Given the description of an element on the screen output the (x, y) to click on. 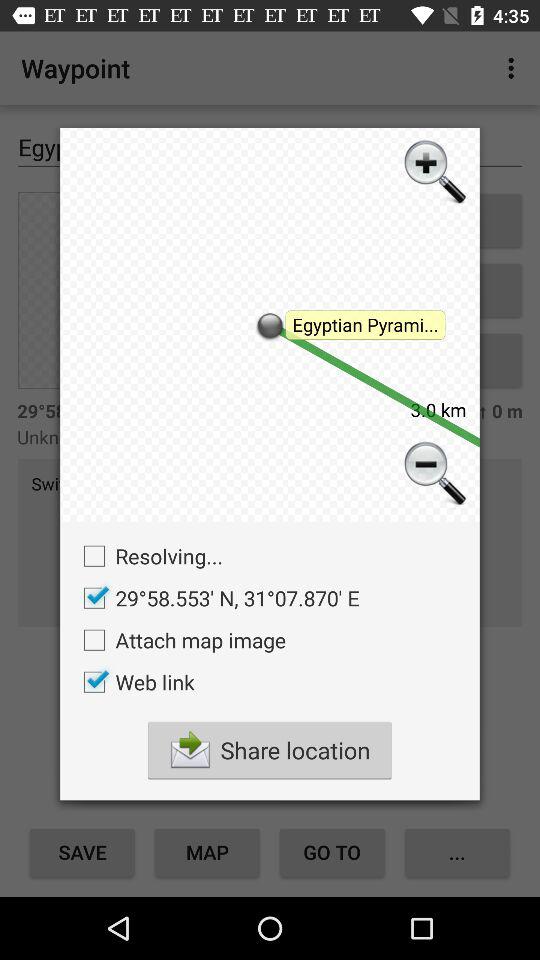
flip until web link (133, 682)
